Given the description of an element on the screen output the (x, y) to click on. 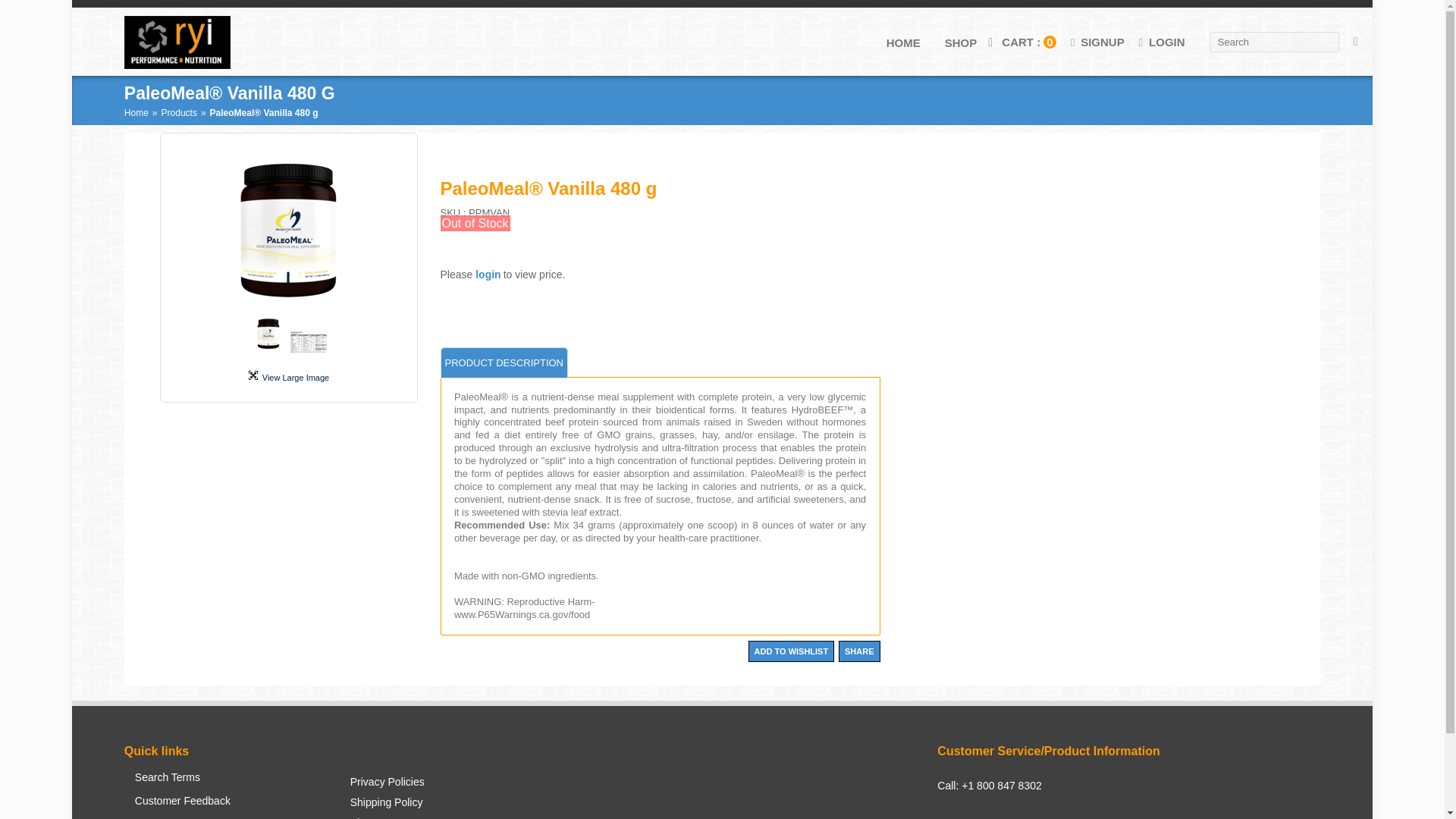
HOME (898, 42)
login (489, 274)
Search Terms (182, 783)
CART : 0 (1028, 42)
SHARE (859, 650)
ADD TO WISHLIST (791, 650)
Shipping Policy (387, 806)
Next (387, 233)
View Large Image (288, 376)
SHOP (952, 42)
Customer Feedback (182, 807)
LOGIN (1160, 42)
SIGNUP (1095, 42)
Shop Here! (960, 42)
Home (135, 112)
